Given the description of an element on the screen output the (x, y) to click on. 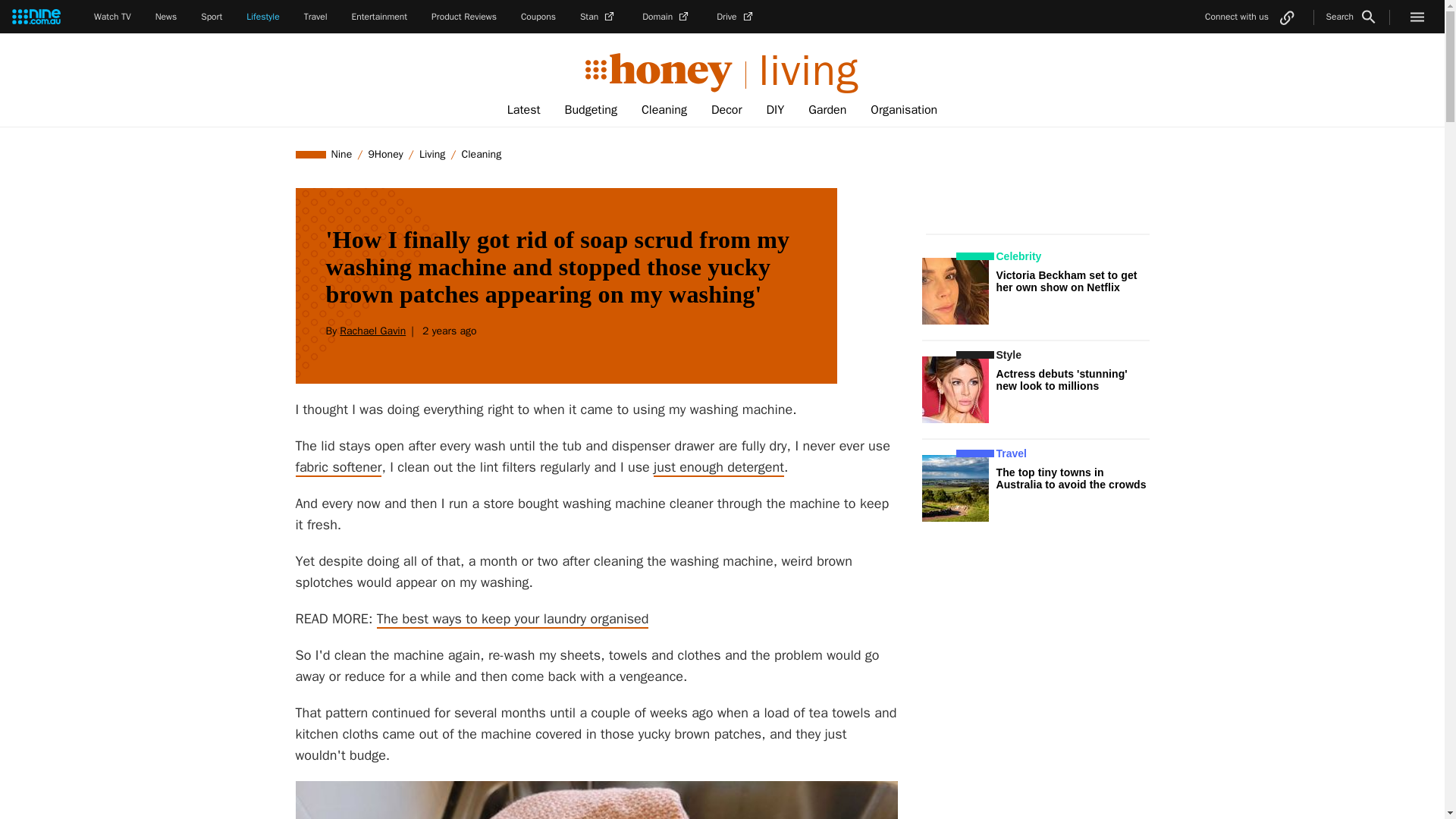
Lifestyle (262, 16)
Coupons (538, 16)
Product Reviews (463, 16)
Nine (342, 154)
Domain (667, 16)
Decor (726, 109)
DIY (775, 109)
just enough detergent (718, 467)
Rachael Gavin (372, 330)
fabric softener (338, 467)
